Given the description of an element on the screen output the (x, y) to click on. 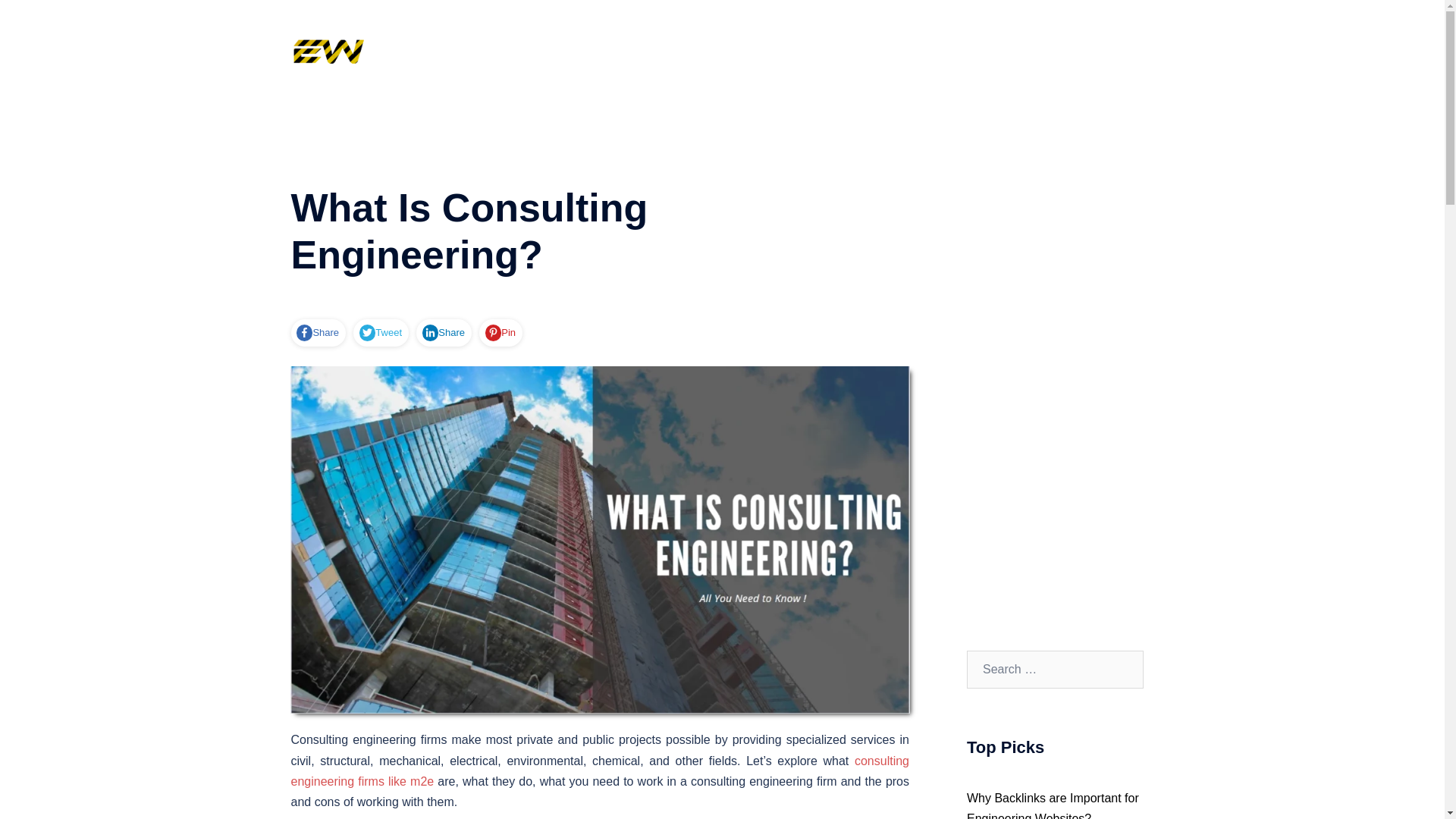
Share (443, 332)
Quiz (731, 53)
Engineering Fields (1100, 53)
Search (47, 18)
Why Backlinks are Important for Engineering Websites? (1052, 805)
Guest Posts (793, 53)
Tweet (380, 332)
Engineering World (327, 51)
Share (318, 332)
consulting engineering firms like m2e (600, 770)
Pin (499, 332)
Engineering Shop (991, 53)
